Given the description of an element on the screen output the (x, y) to click on. 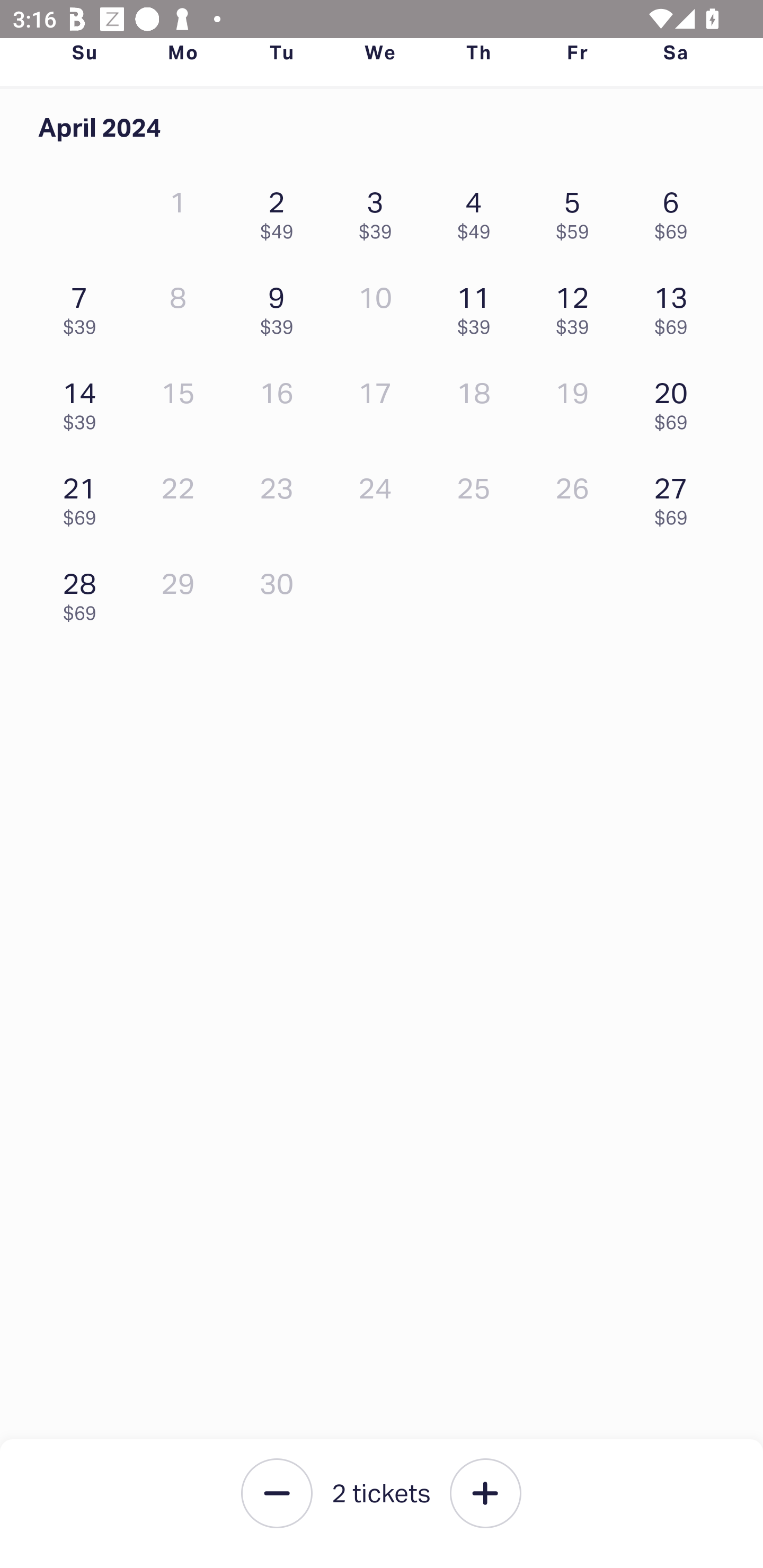
2 $49 (281, 210)
3 $39 (379, 210)
4 $49 (478, 210)
5 $59 (577, 210)
6 $69 (675, 210)
7 $39 (84, 306)
9 $39 (281, 306)
11 $39 (478, 306)
12 $39 (577, 306)
13 $69 (675, 306)
14 $39 (84, 401)
20 $69 (675, 401)
21 $69 (84, 496)
27 $69 (675, 496)
28 $69 (84, 591)
